Given the description of an element on the screen output the (x, y) to click on. 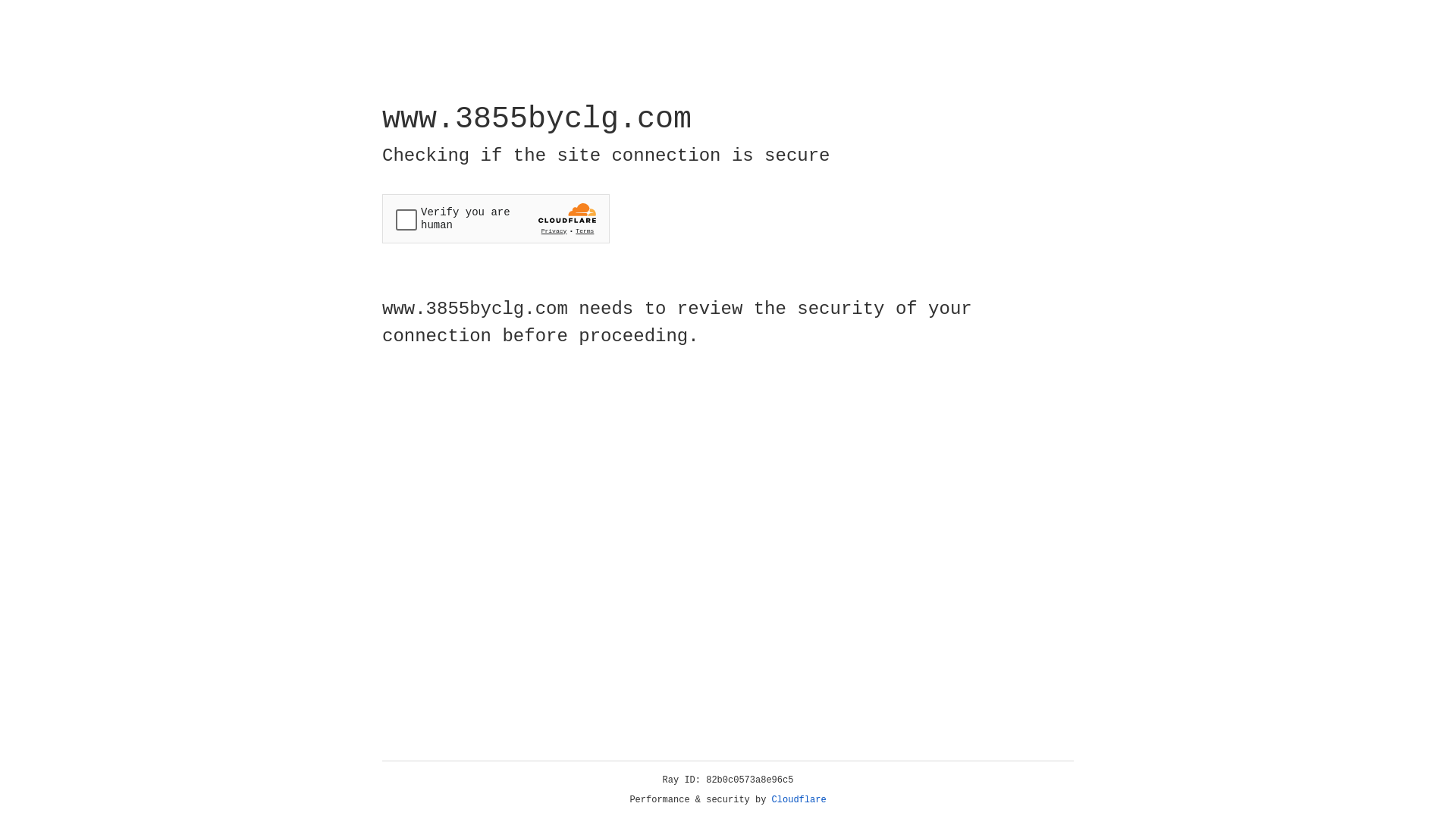
Widget containing a Cloudflare security challenge Element type: hover (495, 218)
Cloudflare Element type: text (798, 799)
